Given the description of an element on the screen output the (x, y) to click on. 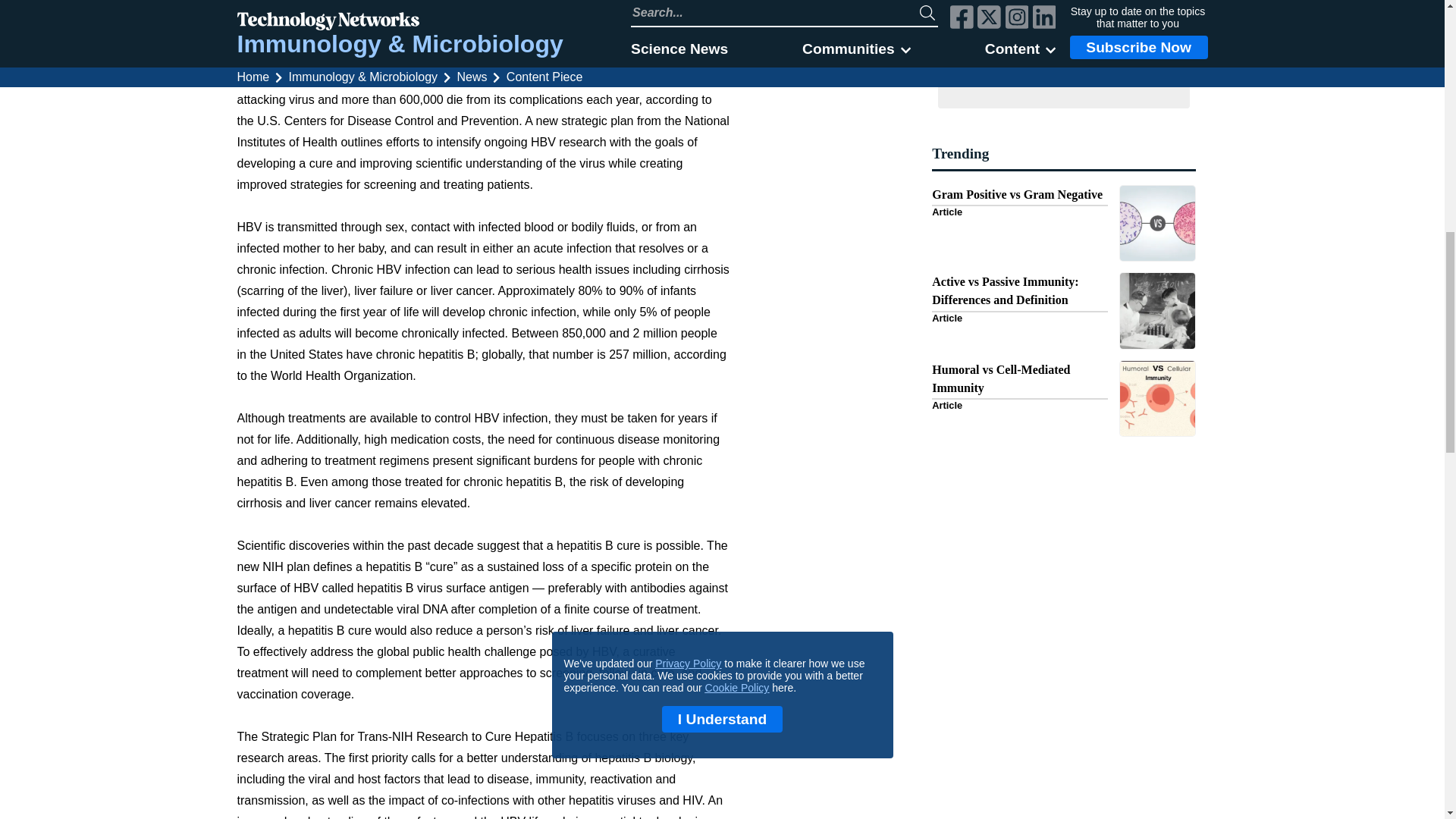
Click to view "Humoral vs Cell-Mediated Immunity" (1063, 398)
Click to view "Gram Positive vs Gram Negative" (1063, 223)
